Given the description of an element on the screen output the (x, y) to click on. 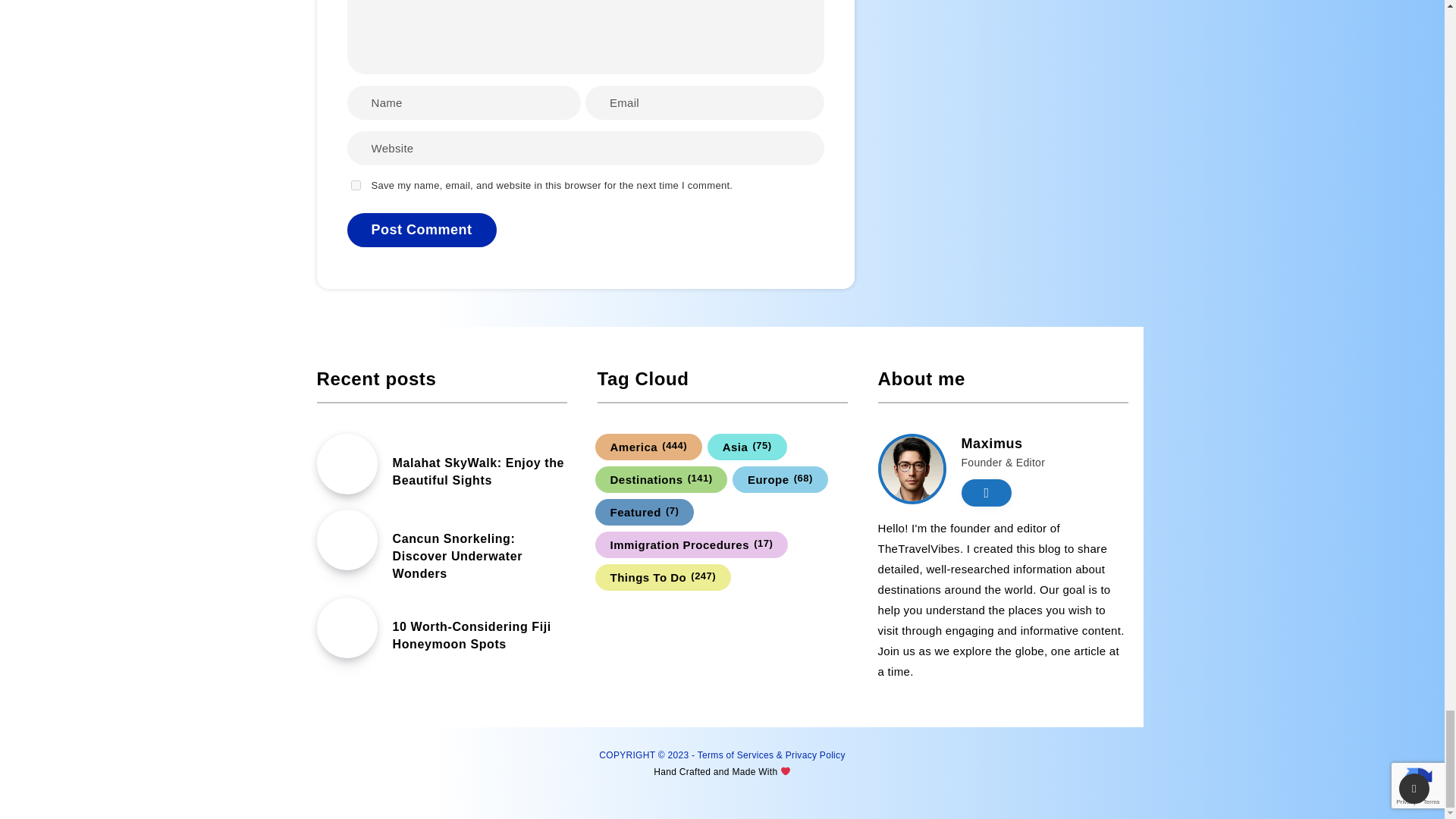
yes (354, 185)
Post Comment (421, 229)
